Given the description of an element on the screen output the (x, y) to click on. 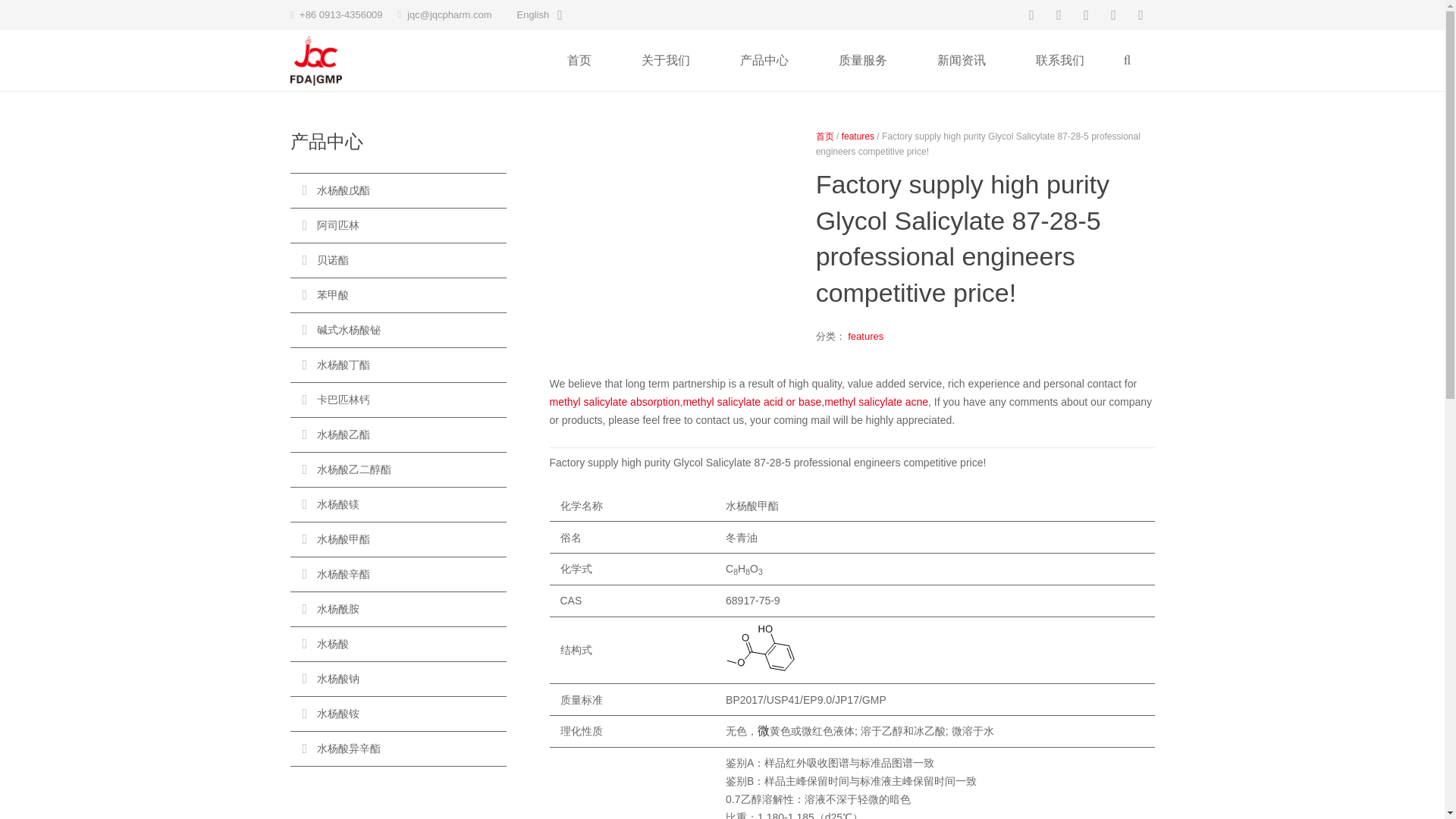
methyl salicylate acne (876, 401)
features (858, 136)
methyl salicylate acid or base (751, 401)
features (865, 336)
methyl salicylate absorption (613, 401)
English (538, 14)
